Given the description of an element on the screen output the (x, y) to click on. 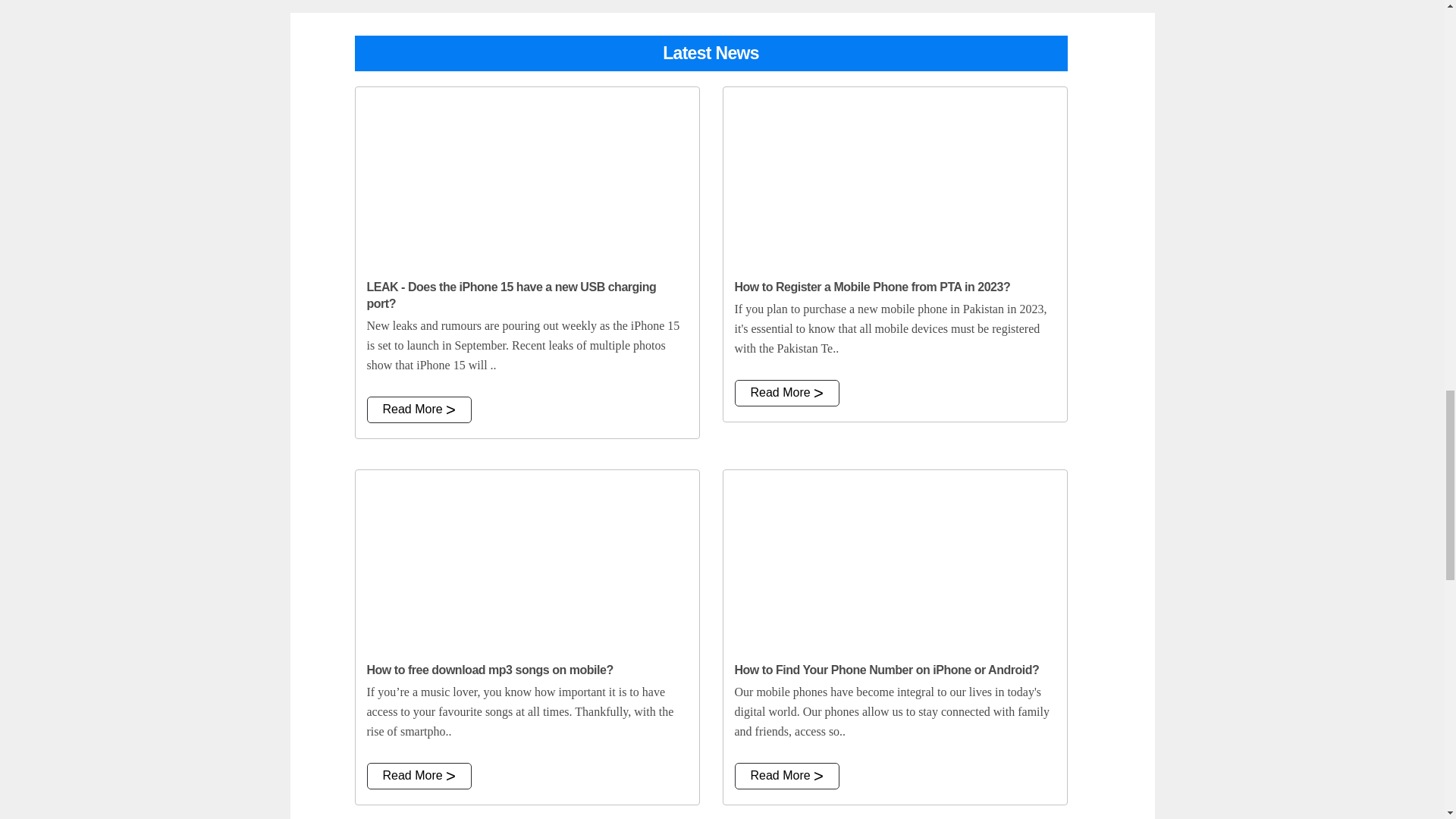
How to Register a Mobile Phone from PTA in 2023? (895, 177)
How to Find Your Phone Number on iPhone or Android? (895, 560)
How to free download mp3 songs on mobile? (526, 560)
LEAK - Does the iPhone 15 have a new USB charging port? (526, 177)
